Given the description of an element on the screen output the (x, y) to click on. 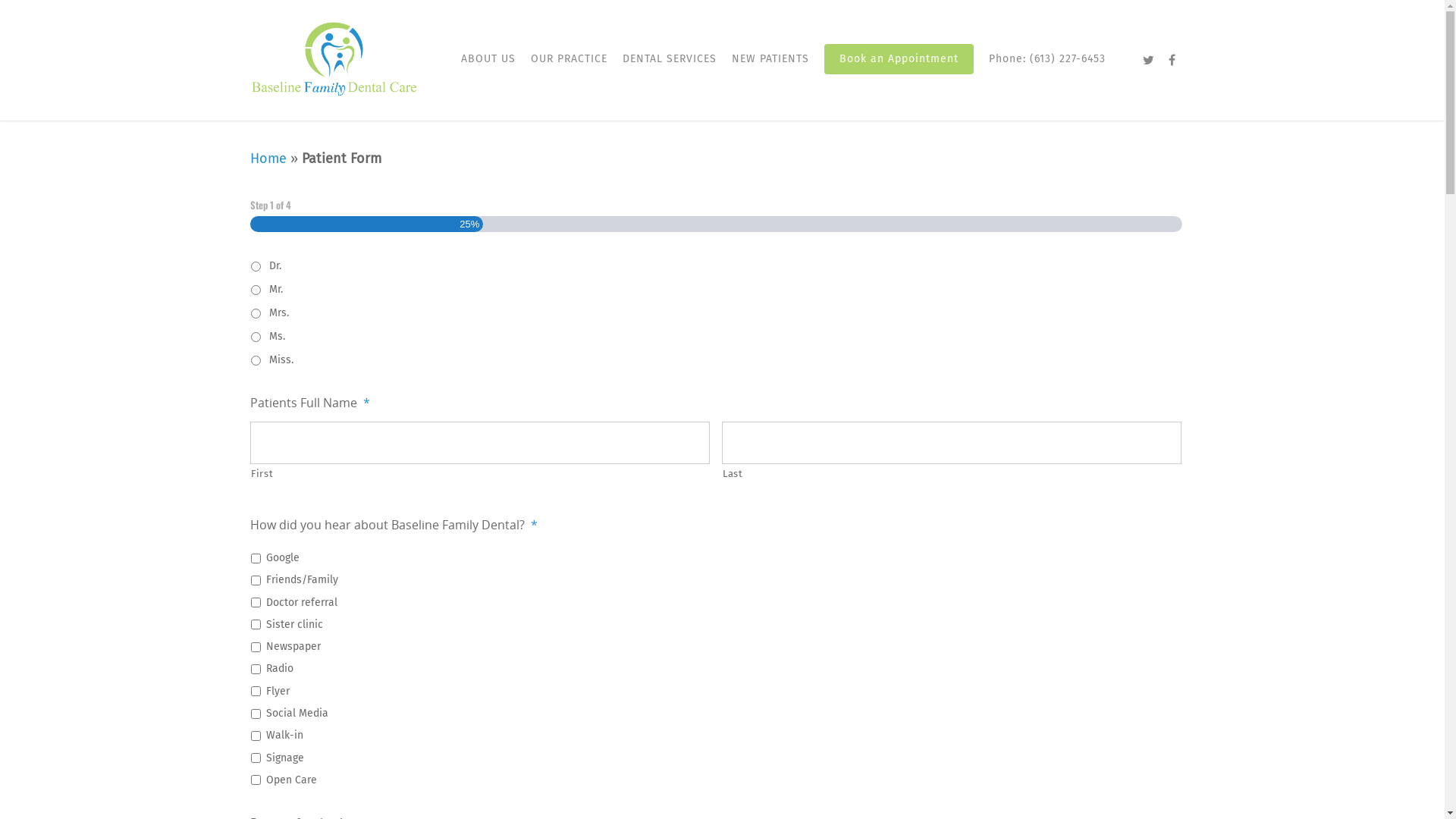
Book an Appointment Element type: text (898, 69)
Home Element type: text (268, 158)
DENTAL SERVICES Element type: text (669, 69)
ABOUT US Element type: text (488, 69)
Phone: (613) 227-6453 Element type: text (1046, 69)
NEW PATIENTS Element type: text (770, 69)
OUR PRACTICE Element type: text (568, 69)
